Given the description of an element on the screen output the (x, y) to click on. 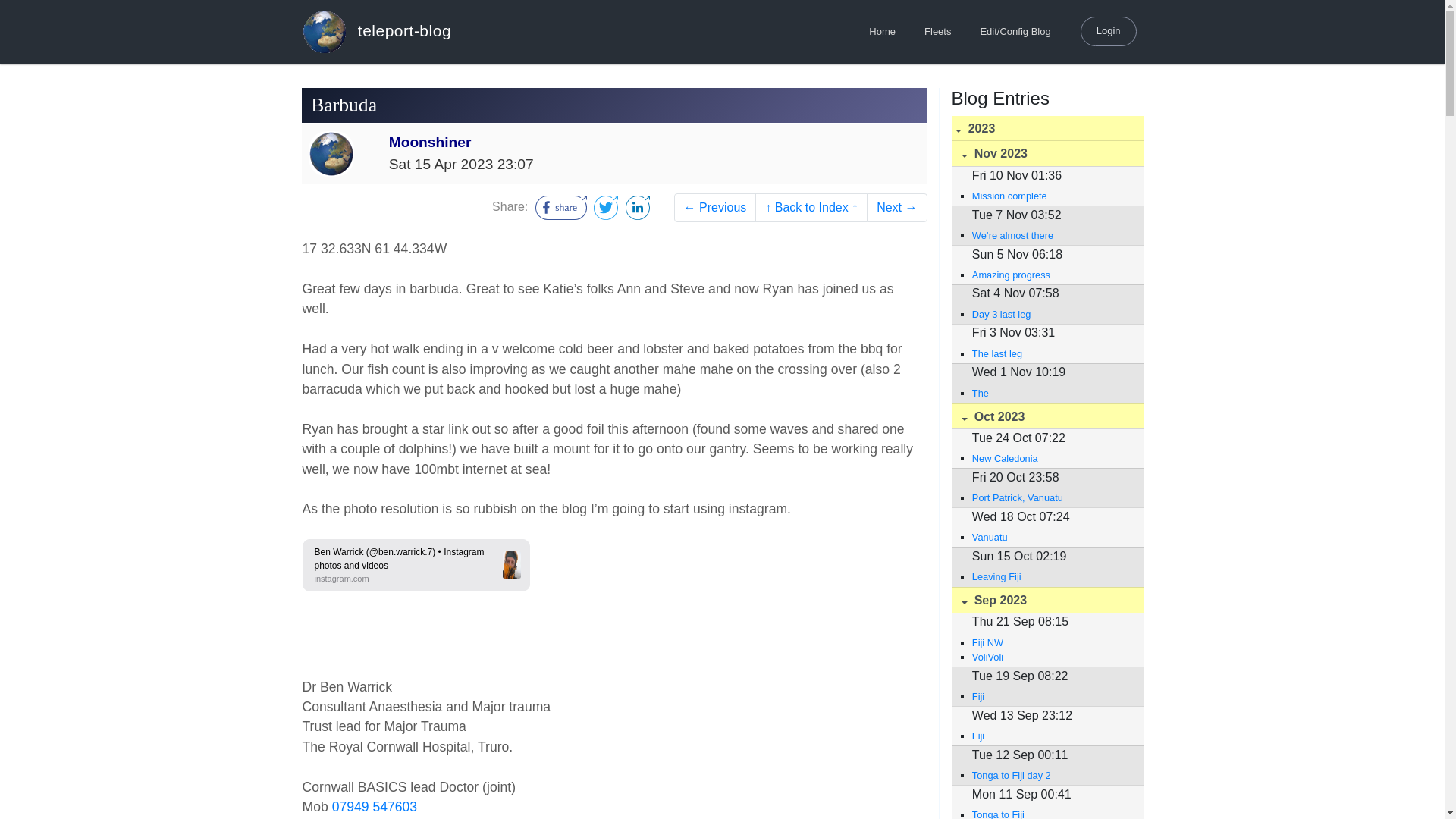
Tonga to Fiji (1050, 813)
Amazing progress (1050, 274)
VoliVoli (1050, 657)
Day 3 last leg (1050, 314)
instagram.com (341, 578)
Nov 2023 (1046, 153)
Port Patrick, Vanuatu (1050, 497)
07949 547603 (374, 806)
New Caledonia (1050, 458)
Leaving Fiji (1050, 576)
teleport-blog (376, 31)
Mission complete (1050, 196)
Tonga to Fiji day 2 (1050, 775)
Oct 2023 (1046, 416)
The (1050, 392)
